Given the description of an element on the screen output the (x, y) to click on. 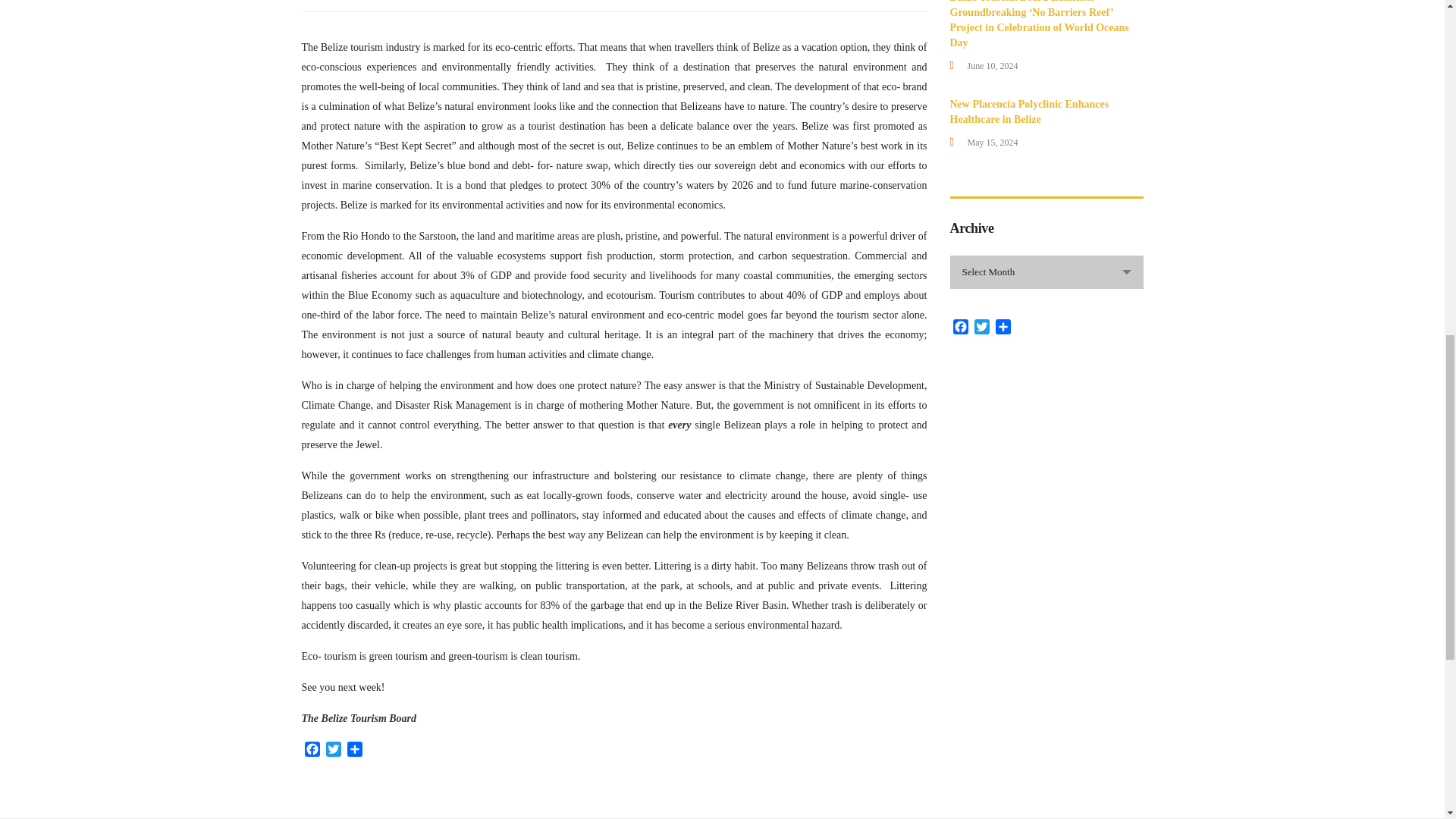
Twitter (333, 751)
Facebook (312, 751)
Select Month (1046, 272)
Facebook (960, 328)
Twitter (981, 328)
